Given the description of an element on the screen output the (x, y) to click on. 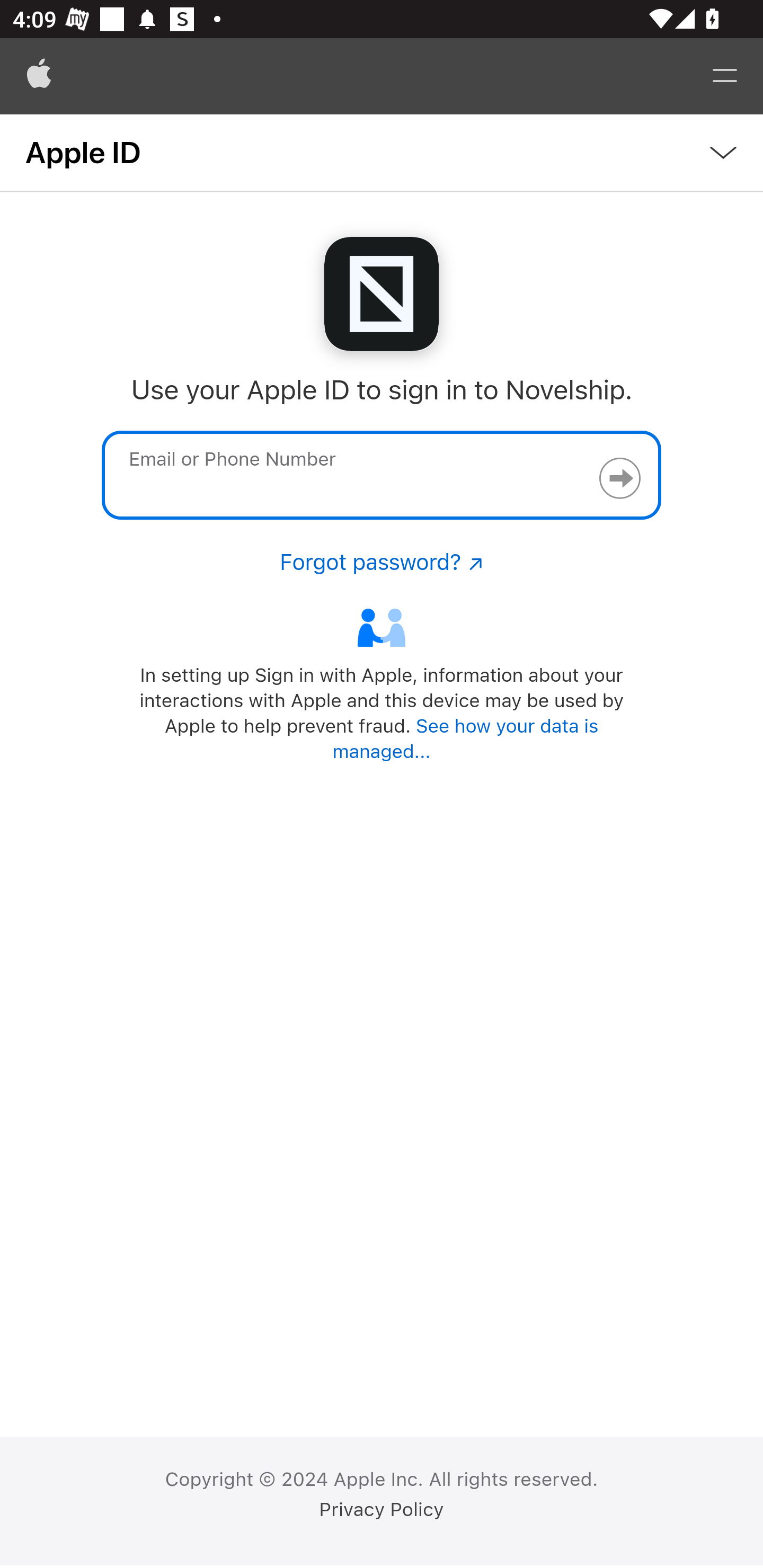
Apple (38, 75)
Menu (724, 75)
Continue (618, 477)
Privacy Policy (381, 1509)
